Given the description of an element on the screen output the (x, y) to click on. 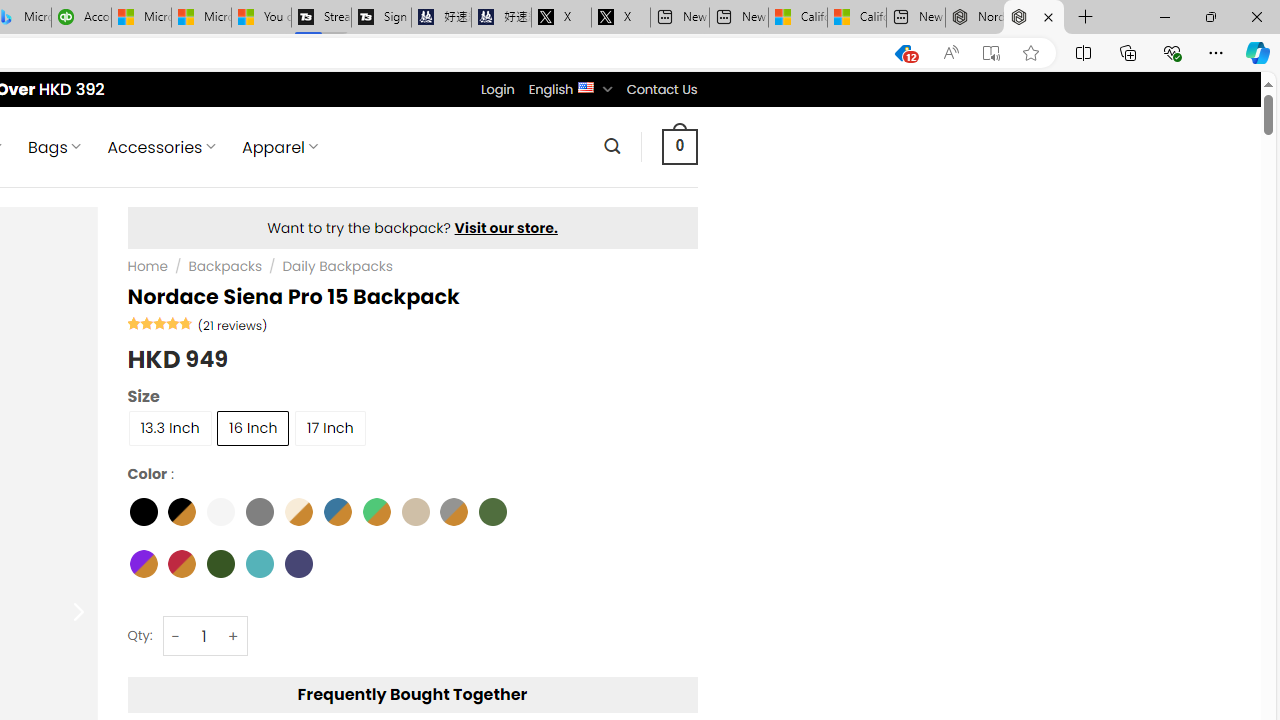
Nordace - Best Sellers (974, 17)
Home (147, 267)
Contact Us (661, 89)
Close (1256, 16)
Backpacks (225, 267)
Contact Us (661, 89)
 0  (679, 146)
13.3 Inch (169, 426)
Login (497, 89)
X (620, 17)
Read aloud this page (Ctrl+Shift+U) (950, 53)
- (175, 636)
